Given the description of an element on the screen output the (x, y) to click on. 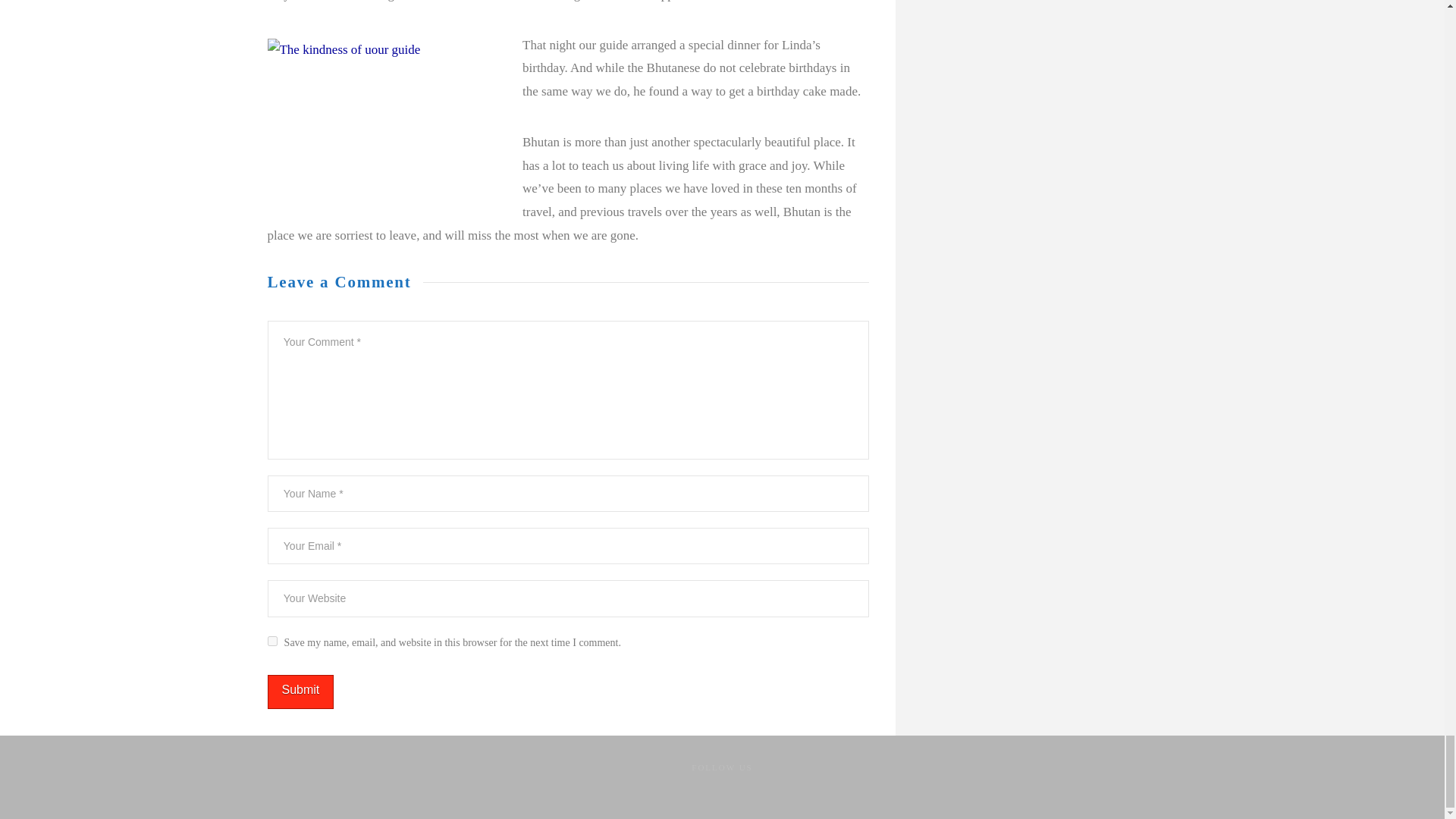
yes (271, 641)
Submit (299, 691)
Submit (299, 691)
